Given the description of an element on the screen output the (x, y) to click on. 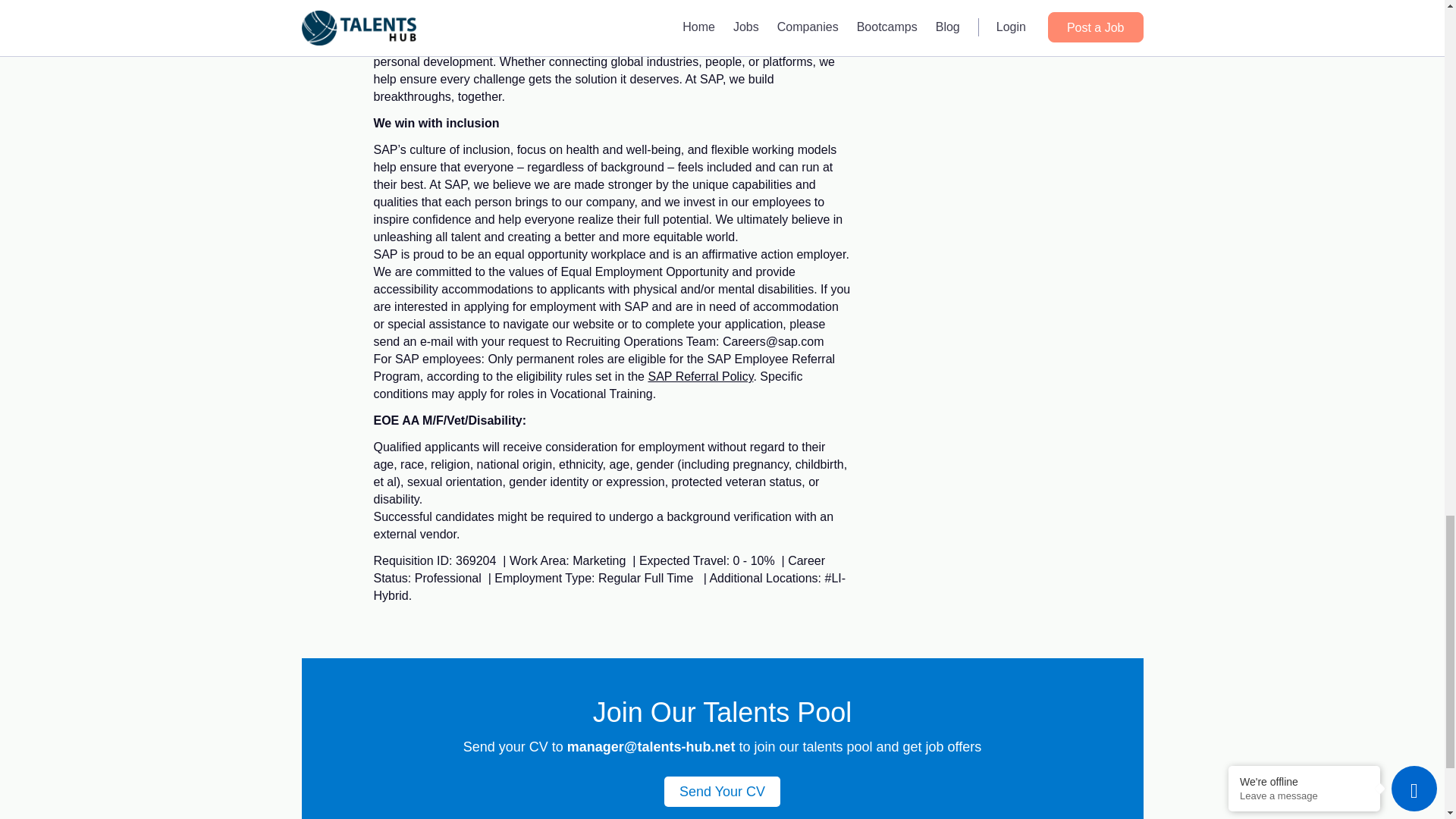
Send Your CV (721, 791)
SAP Referral Policy (699, 376)
